Given the description of an element on the screen output the (x, y) to click on. 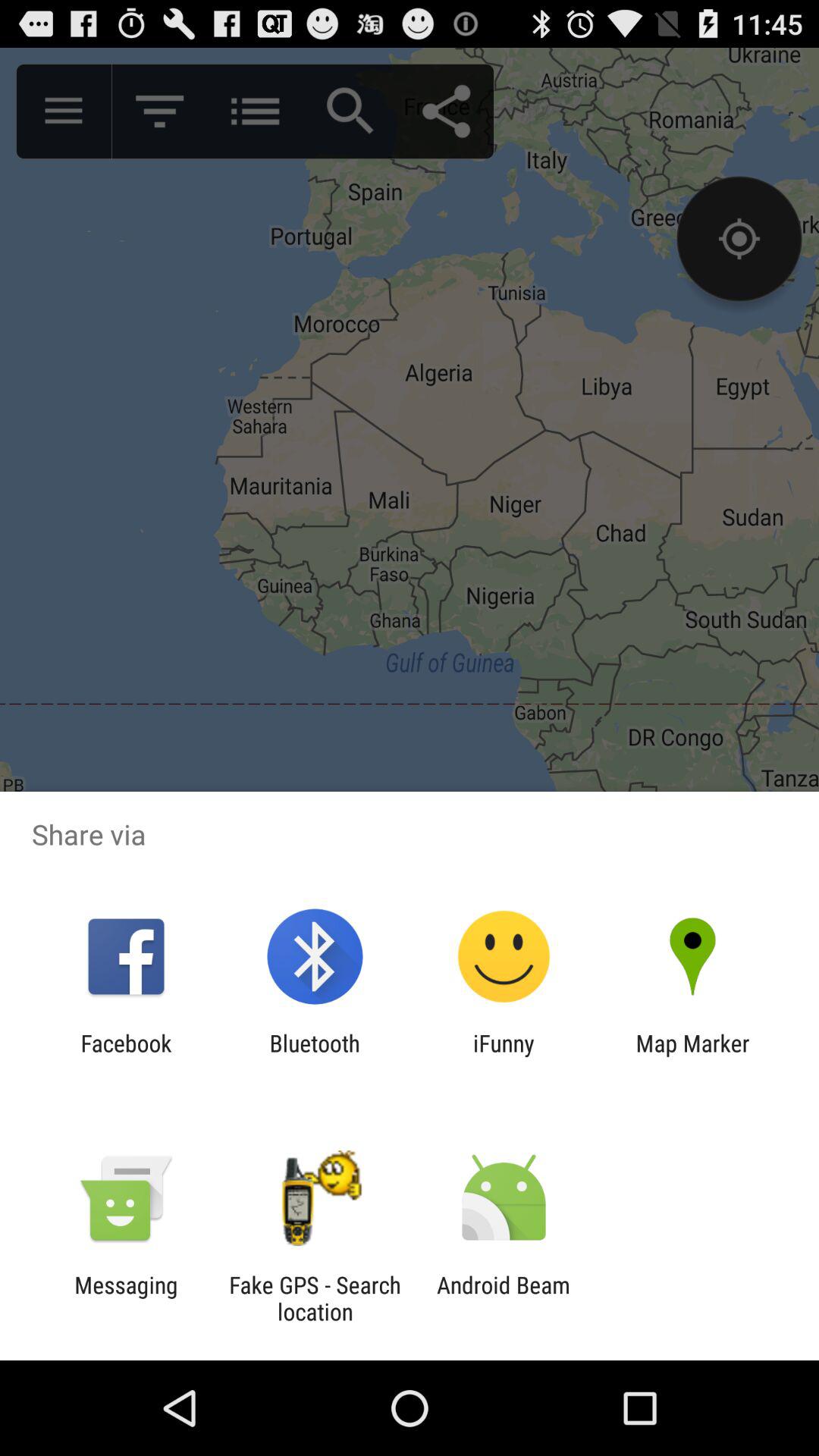
select the app to the right of messaging icon (314, 1298)
